Given the description of an element on the screen output the (x, y) to click on. 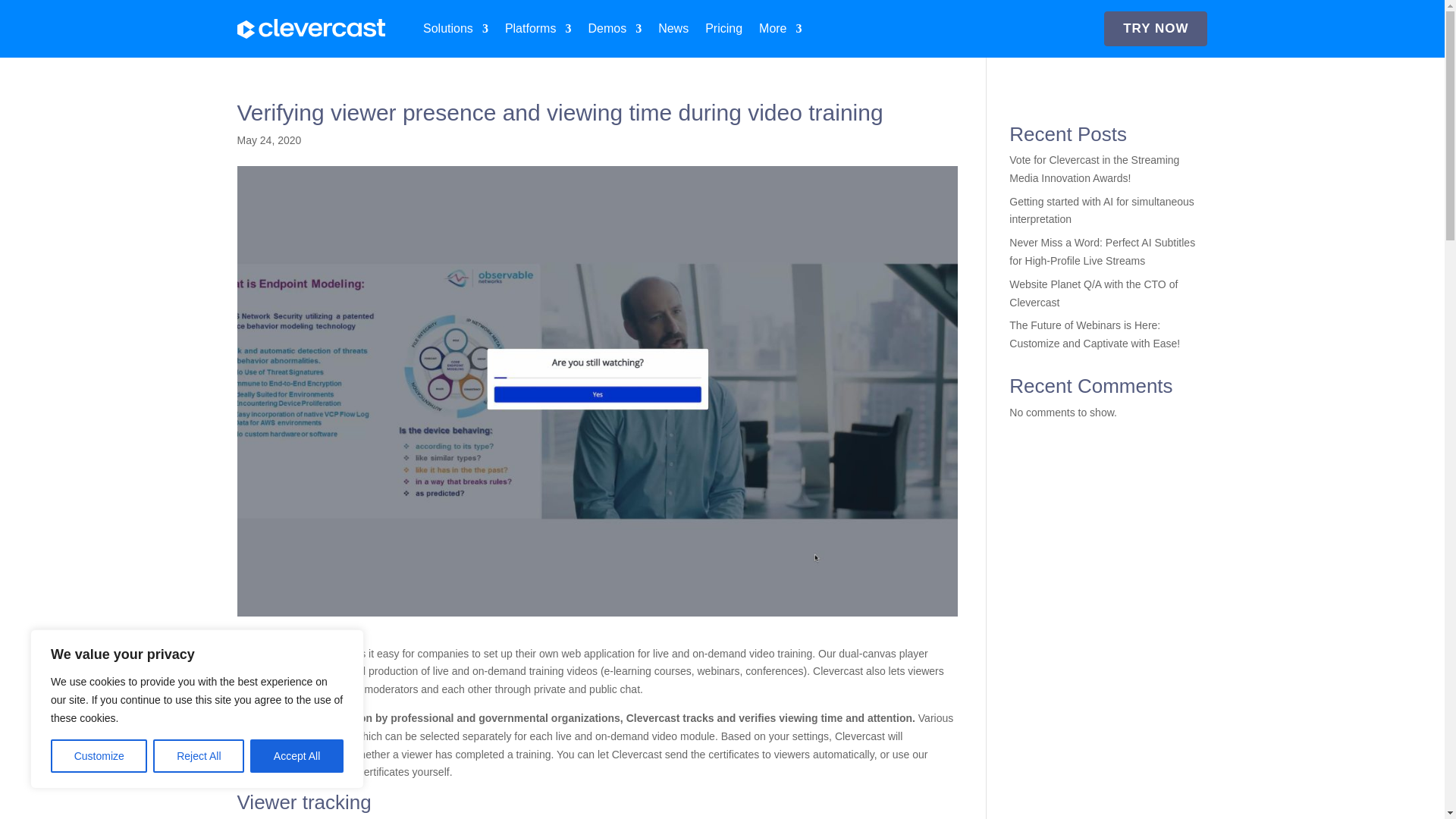
Customize (98, 756)
Platforms (538, 28)
Accept All (296, 756)
Demos (615, 28)
Solutions (455, 28)
Reject All (198, 756)
